Given the description of an element on the screen output the (x, y) to click on. 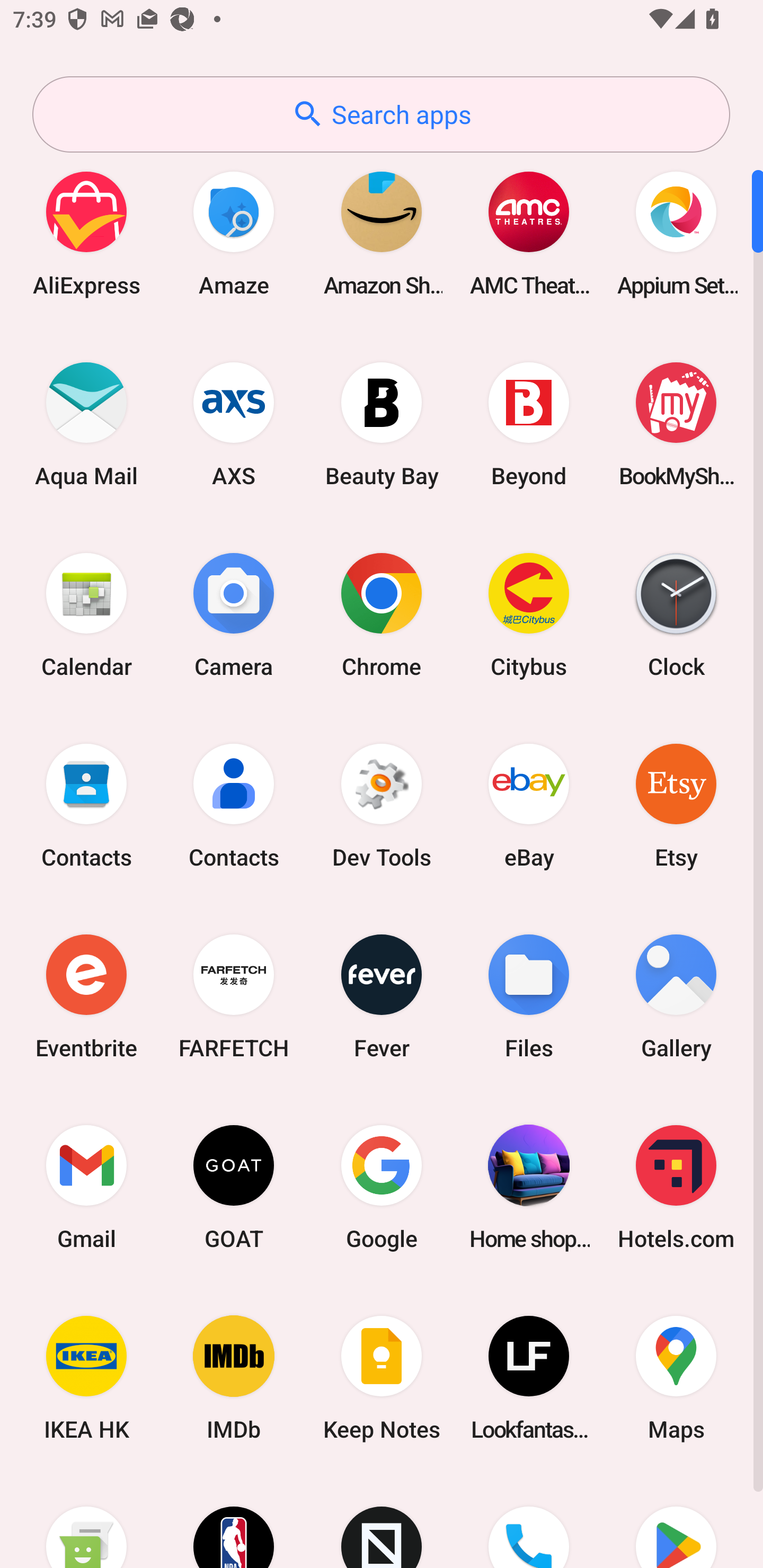
  Search apps (381, 114)
AliExpress (86, 233)
Amaze (233, 233)
Amazon Shopping (381, 233)
AMC Theatres (528, 233)
Appium Settings (676, 233)
Aqua Mail (86, 424)
AXS (233, 424)
Beauty Bay (381, 424)
Beyond (528, 424)
BookMyShow (676, 424)
Calendar (86, 614)
Camera (233, 614)
Chrome (381, 614)
Citybus (528, 614)
Clock (676, 614)
Contacts (86, 805)
Contacts (233, 805)
Dev Tools (381, 805)
eBay (528, 805)
Etsy (676, 805)
Eventbrite (86, 996)
FARFETCH (233, 996)
Fever (381, 996)
Files (528, 996)
Gallery (676, 996)
Gmail (86, 1186)
GOAT (233, 1186)
Google (381, 1186)
Home shopping (528, 1186)
Hotels.com (676, 1186)
IKEA HK (86, 1377)
IMDb (233, 1377)
Keep Notes (381, 1377)
Lookfantastic (528, 1377)
Maps (676, 1377)
Messaging (86, 1520)
NBA (233, 1520)
Novelship (381, 1520)
Phone (528, 1520)
Play Store (676, 1520)
